Given the description of an element on the screen output the (x, y) to click on. 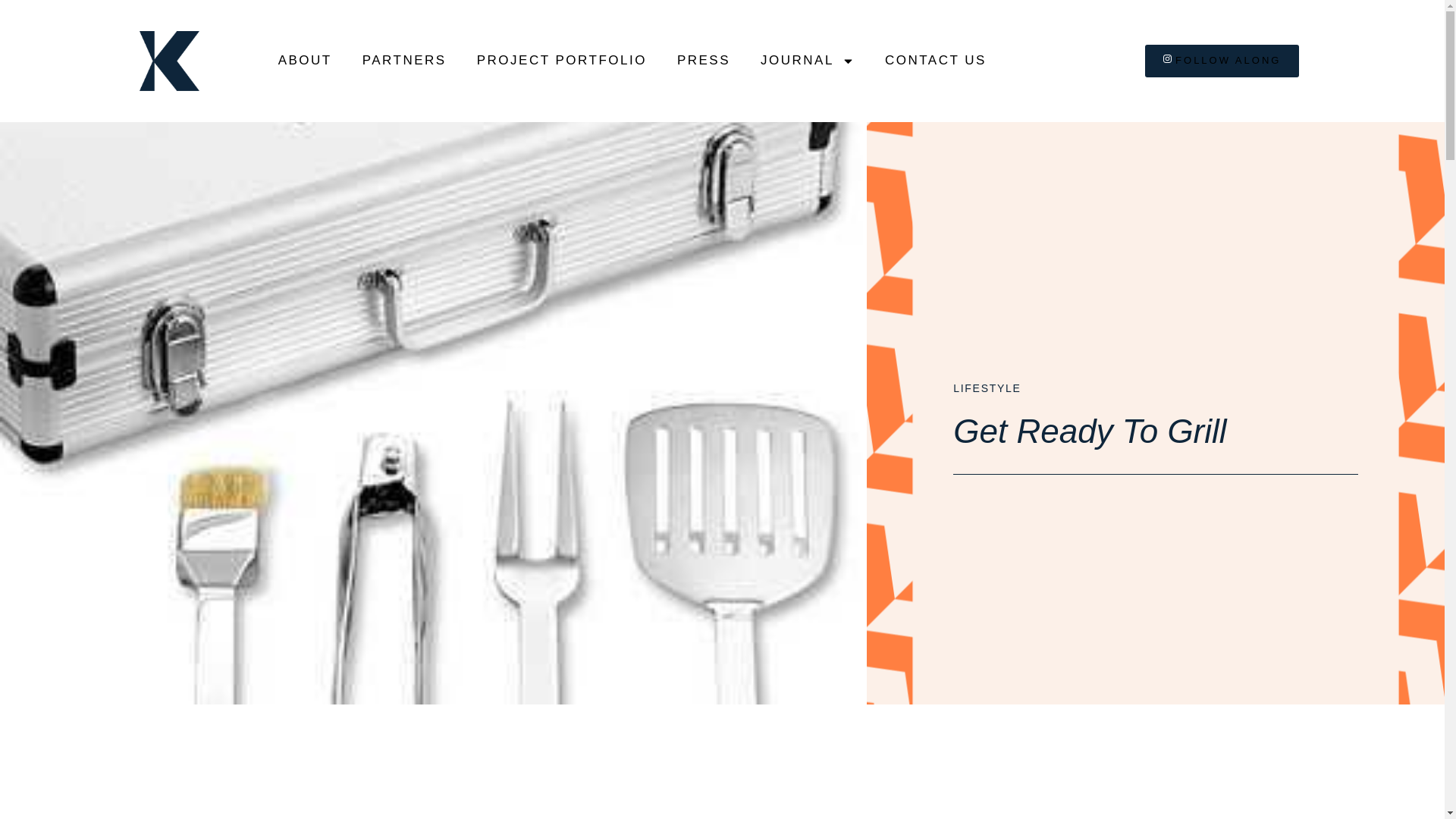
ABOUT (305, 60)
CONTACT US (935, 60)
PARTNERS (404, 60)
JOURNAL (807, 60)
LIFESTYLE (986, 387)
PRESS (703, 60)
FOLLOW ALONG (1221, 60)
PROJECT PORTFOLIO (561, 60)
